Given the description of an element on the screen output the (x, y) to click on. 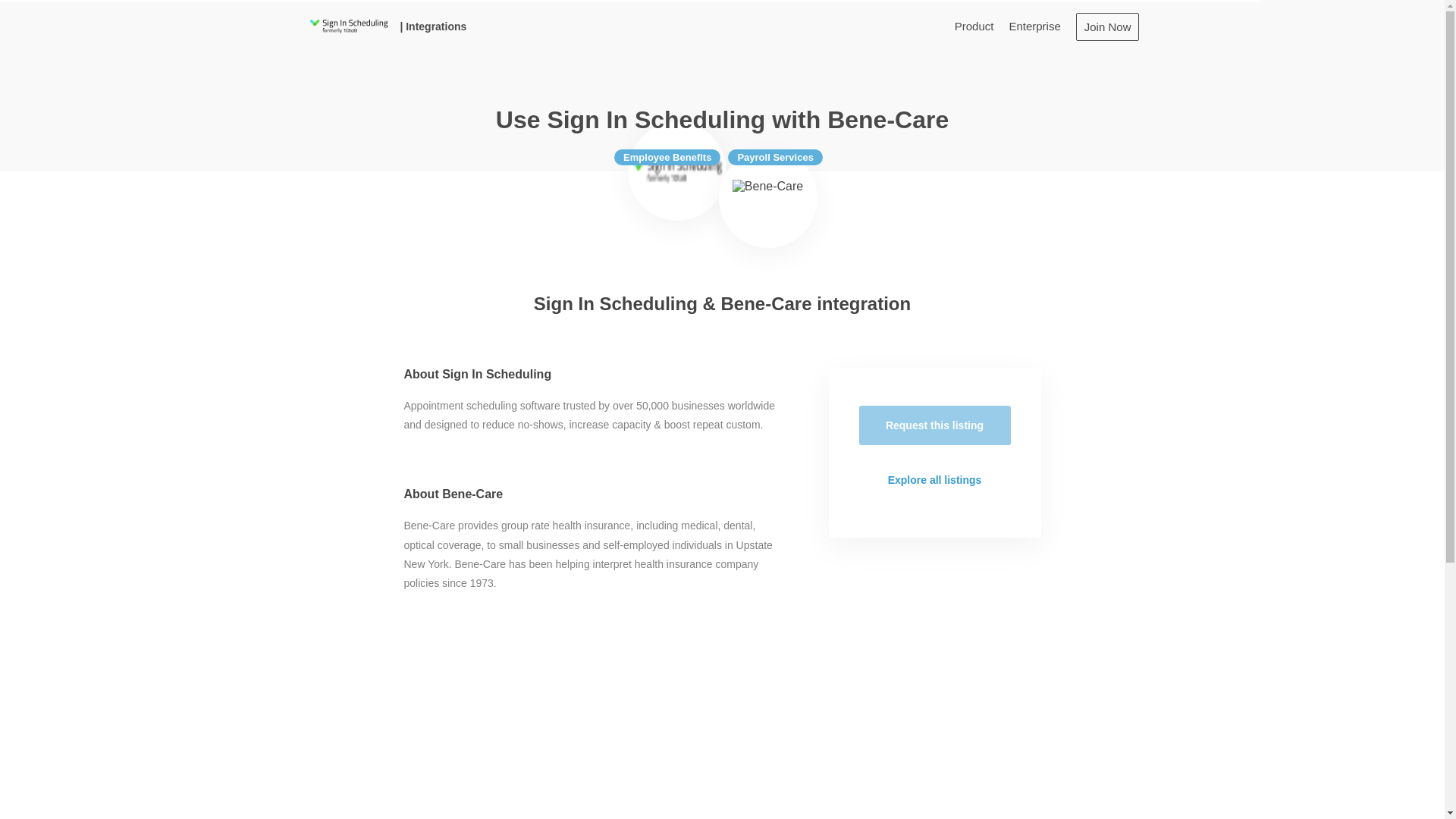
Product (974, 25)
Bene-Care (767, 198)
Join Now (1107, 26)
Enterprise (1034, 25)
Explore all listings (934, 479)
Sign In Scheduling (676, 171)
Sign In Scheduling (347, 26)
Request this listing (934, 425)
